Given the description of an element on the screen output the (x, y) to click on. 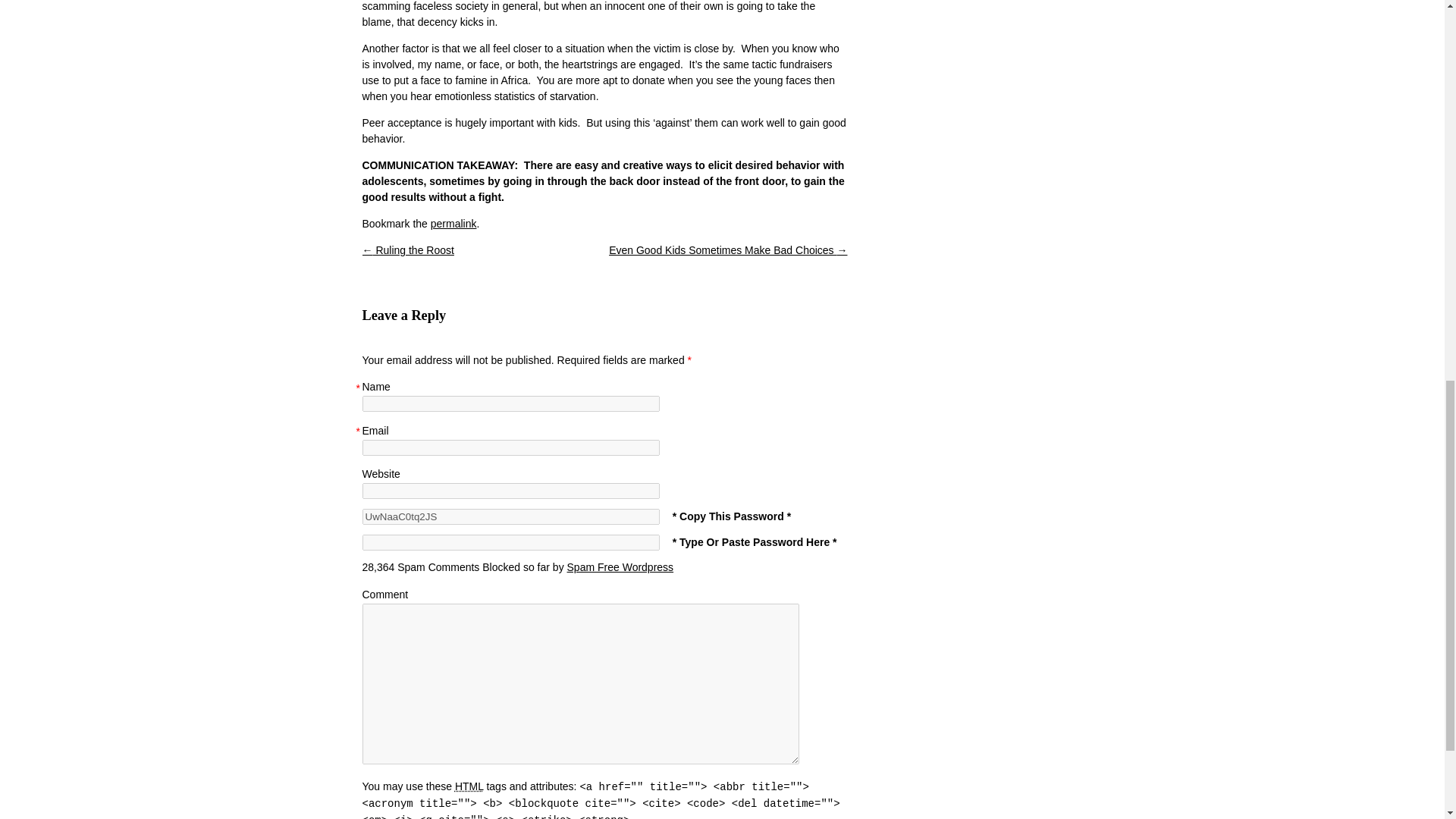
Spam Free Wordpress (620, 567)
UwNaaC0tq2JS (510, 516)
Spam Free Wordpress (620, 567)
permalink (453, 223)
HyperText Markup Language (468, 786)
